Given the description of an element on the screen output the (x, y) to click on. 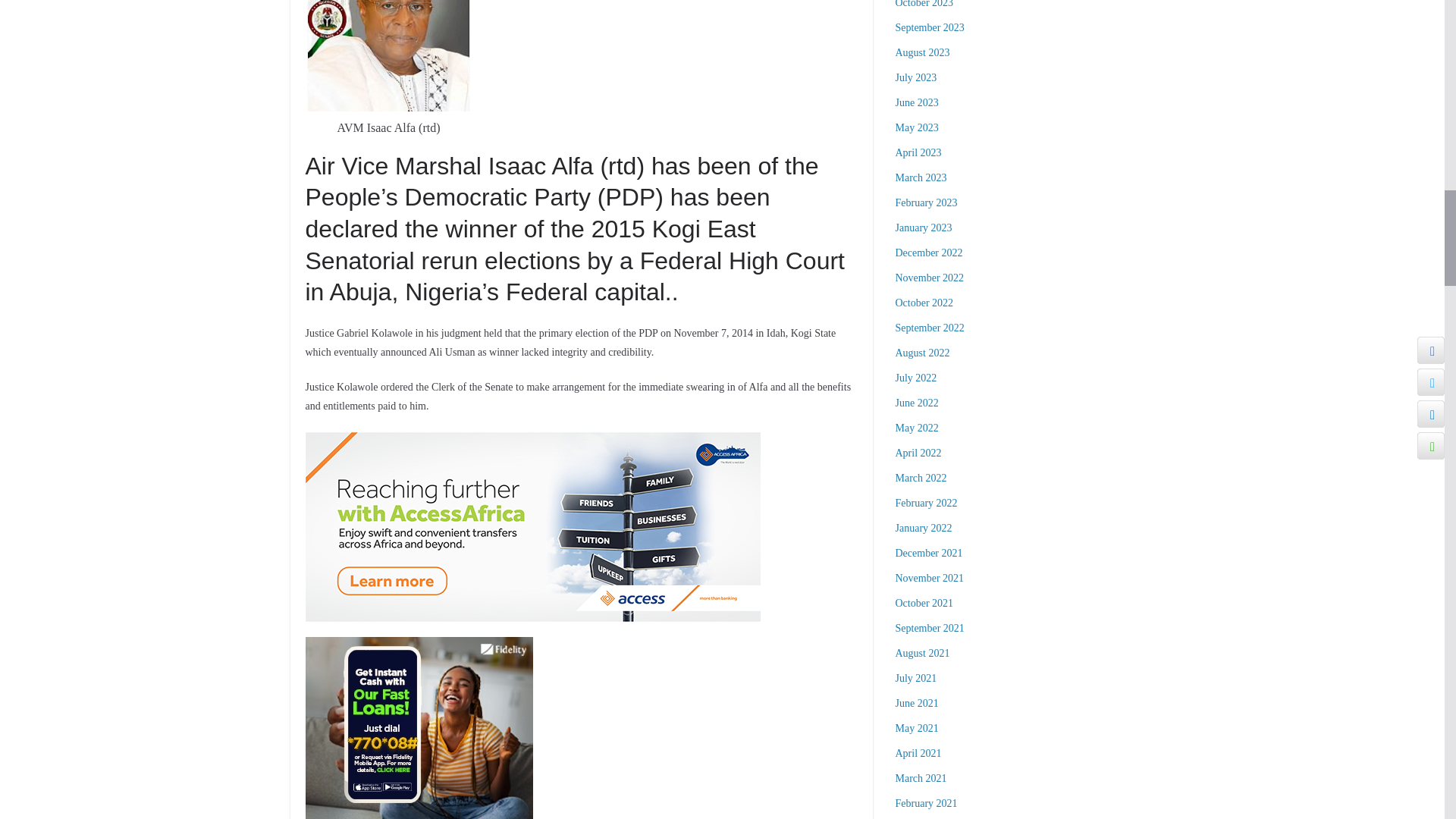
Fidelity Fast Loan (418, 646)
